Given the description of an element on the screen output the (x, y) to click on. 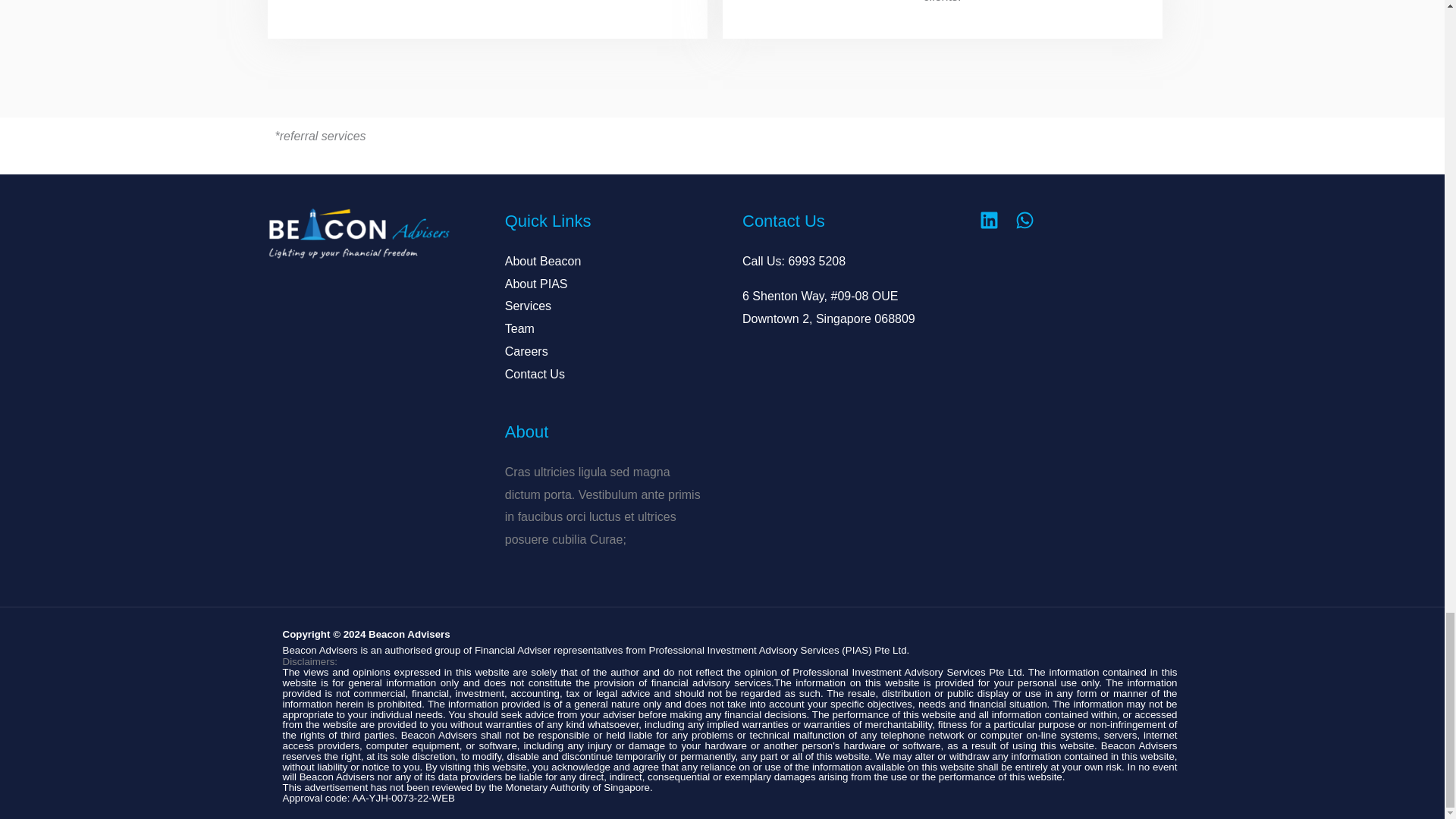
Team (519, 328)
About Beacon (542, 260)
Services (528, 305)
About PIAS (536, 283)
